Given the description of an element on the screen output the (x, y) to click on. 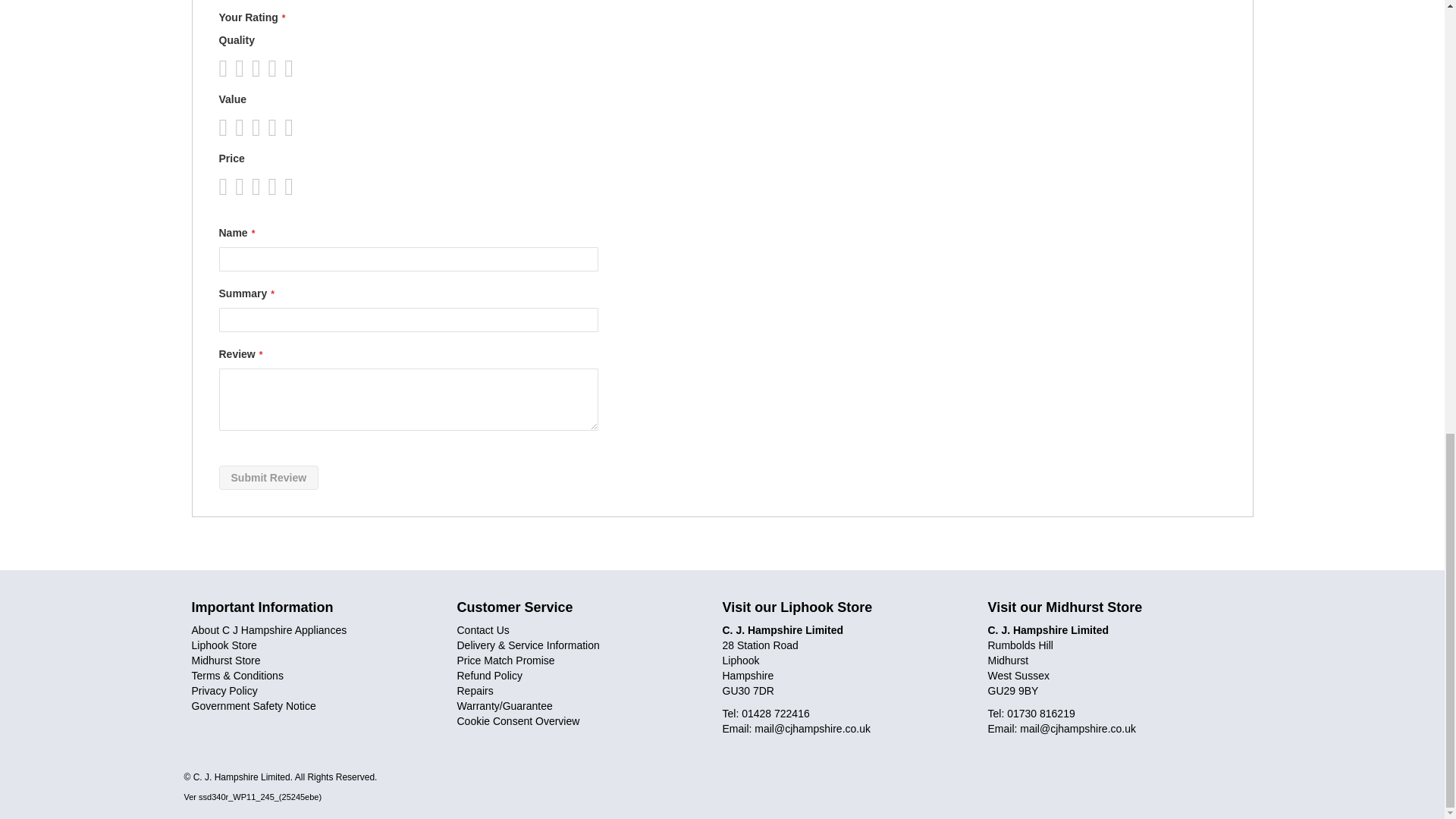
5 stars (258, 68)
